Given the description of an element on the screen output the (x, y) to click on. 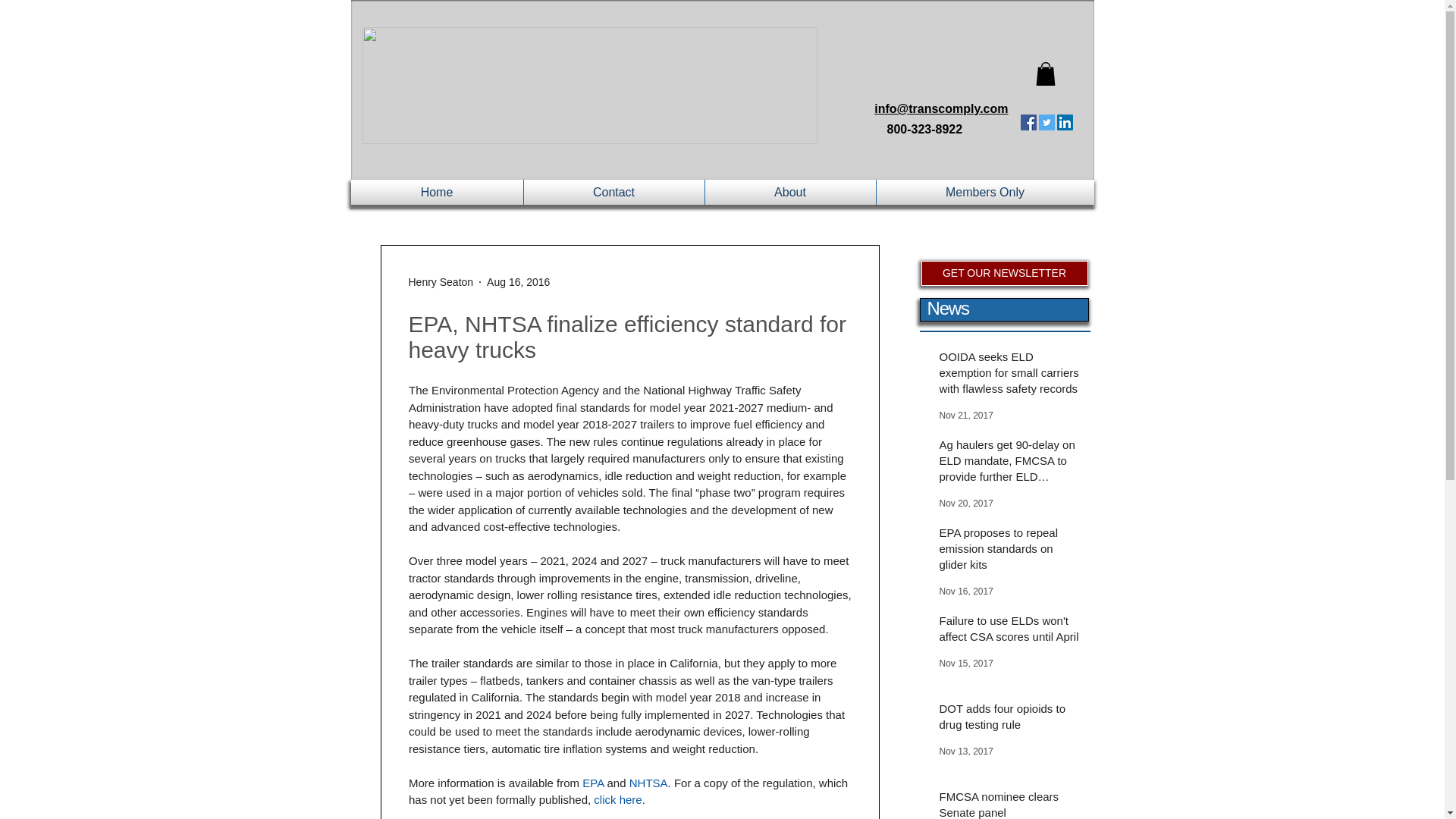
Henry Seaton (440, 282)
Members Only (985, 191)
Aug 16, 2016 (518, 282)
Nov 13, 2017 (965, 751)
News (947, 308)
click here (618, 799)
Home (436, 191)
Nov 16, 2017 (965, 591)
Nov 15, 2017 (965, 663)
FMCSA nominee clears Senate panel (1009, 803)
